Given the description of an element on the screen output the (x, y) to click on. 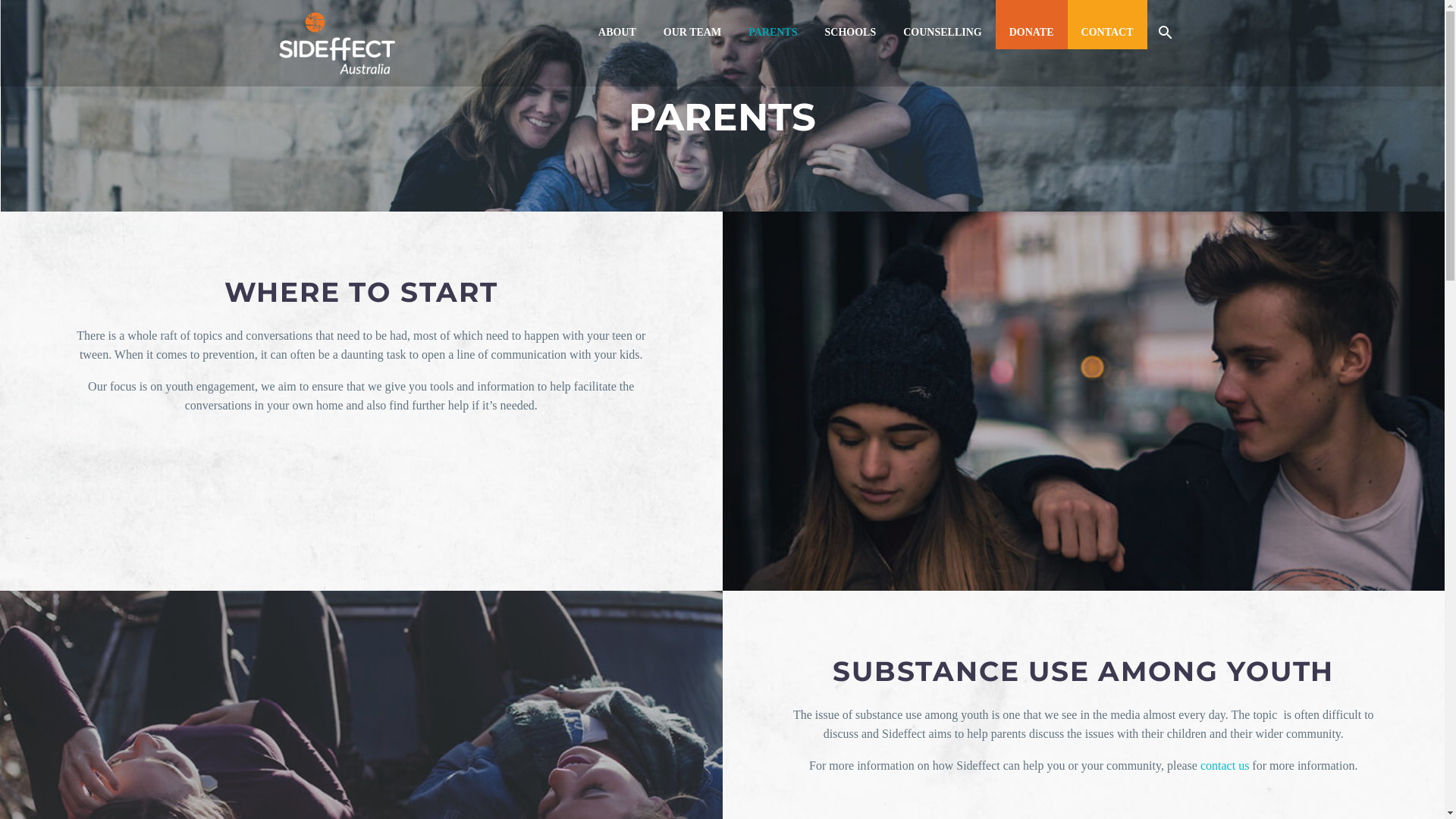
What Is The Rainbow Riches Pick'n'mix's Journey Element type: text (122, 263)
CONTACT Element type: text (1107, 31)
Spin Spin Sugar Casino Detailed Review Element type: text (100, 225)
SCHOOLS Element type: text (849, 31)
Can I Win Real Money In Holy Hand Grenade Games Element type: text (131, 438)
ABOUT Element type: text (616, 31)
DONATE Element type: text (1031, 31)
Sweet Bonanza Legal Casino Element type: text (71, 476)
COUNSELLING Element type: text (941, 31)
Can I Play Big Bass Splash With A Bonus Element type: text (132, 126)
What Are The Best Tactics For The Sweet Bonanza Game Element type: text (171, 88)
contact us Element type: text (1224, 765)
OUR TEAM Element type: text (692, 31)
PARENTS Element type: text (772, 31)
Fishin Frenzy Jackpot King Pai Gow Element type: text (89, 400)
